Given the description of an element on the screen output the (x, y) to click on. 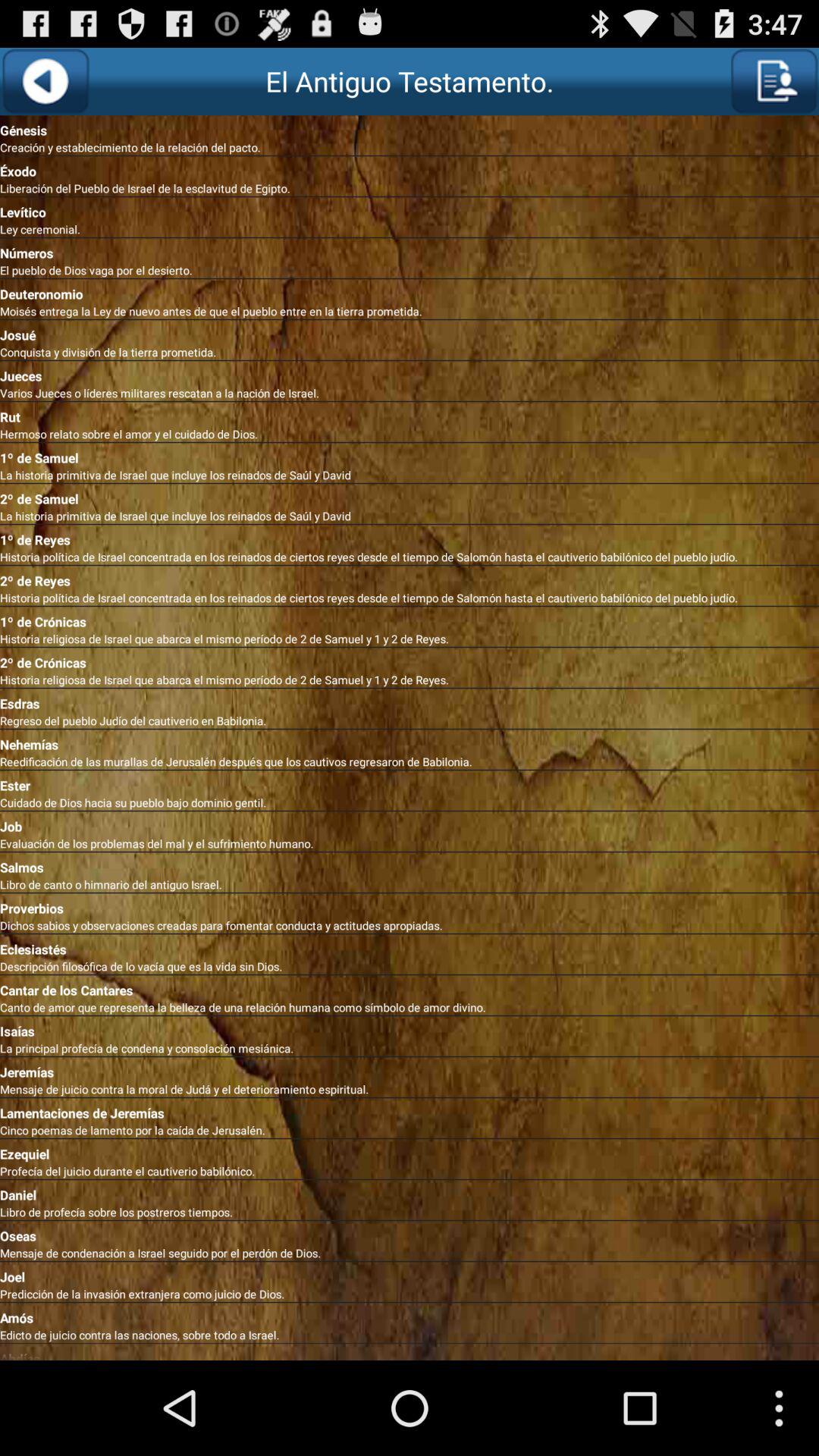
launch ley ceremonial. app (409, 229)
